Given the description of an element on the screen output the (x, y) to click on. 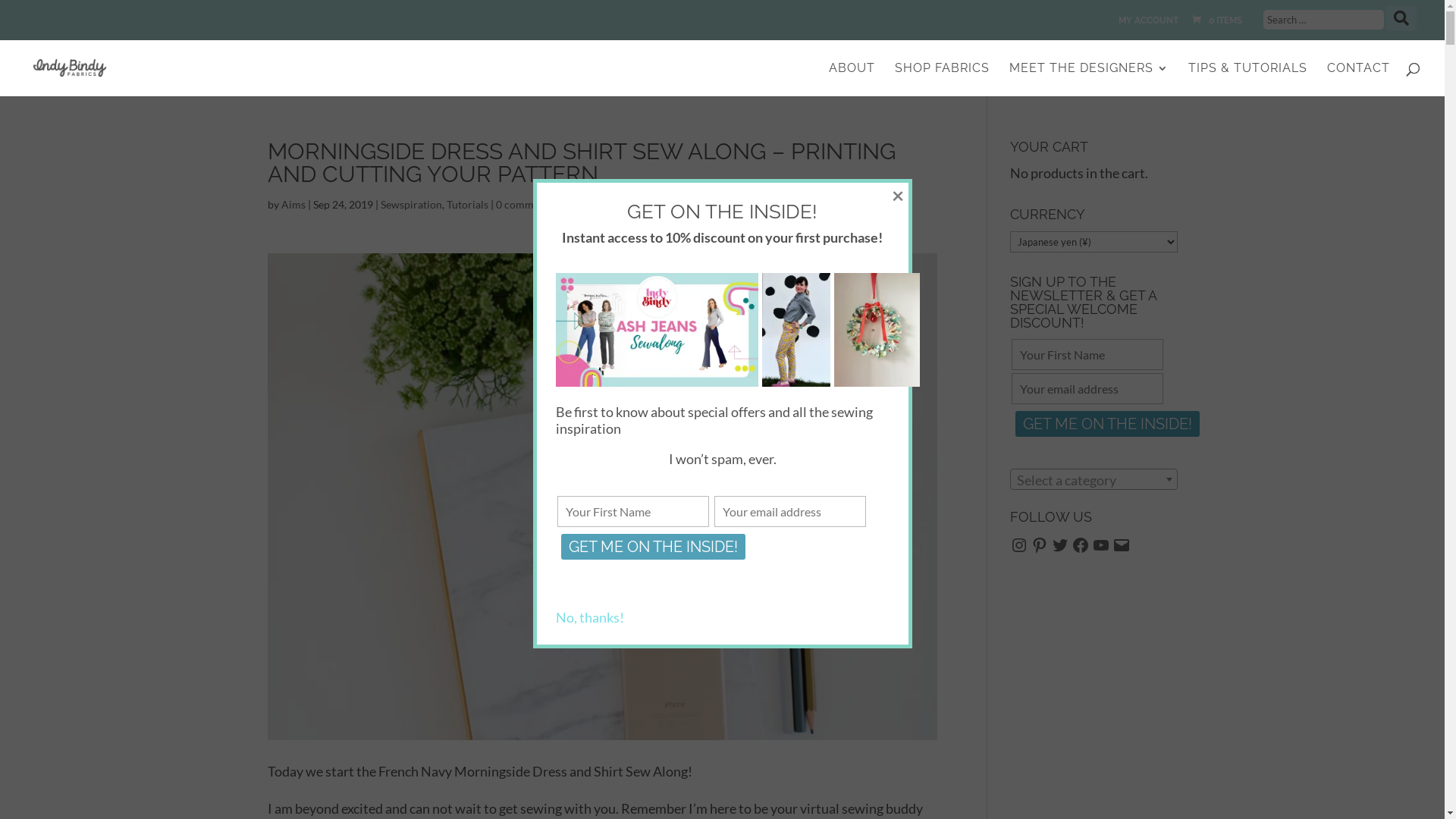
Sewspiration Element type: text (411, 203)
Search for: Element type: hover (1323, 19)
SHOP FABRICS Element type: text (941, 79)
MEET THE DESIGNERS Element type: text (1088, 79)
MY ACCOUNT Element type: text (1148, 23)
CONTACT Element type: text (1358, 79)
0 ITEMS Element type: text (1216, 20)
No, thanks! Element type: text (589, 616)
ABOUT Element type: text (851, 79)
TIPS & TUTORIALS Element type: text (1247, 79)
0 comments Element type: text (524, 203)
Aims Element type: text (292, 203)
get me on the inside! Element type: text (653, 546)
Tutorials Element type: text (466, 203)
get me on the inside! Element type: text (1107, 423)
